Given the description of an element on the screen output the (x, y) to click on. 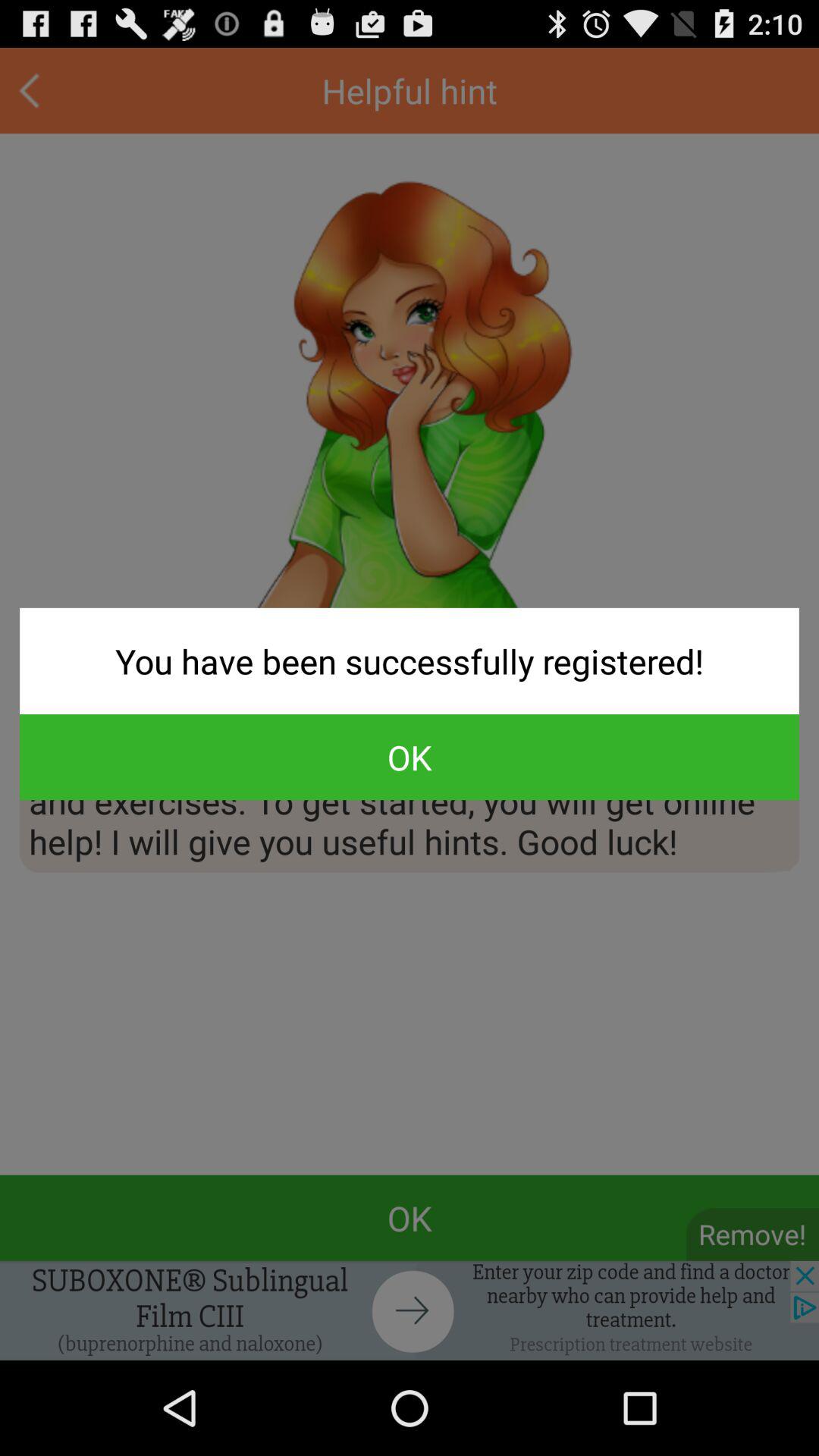
choose ok item (409, 757)
